Given the description of an element on the screen output the (x, y) to click on. 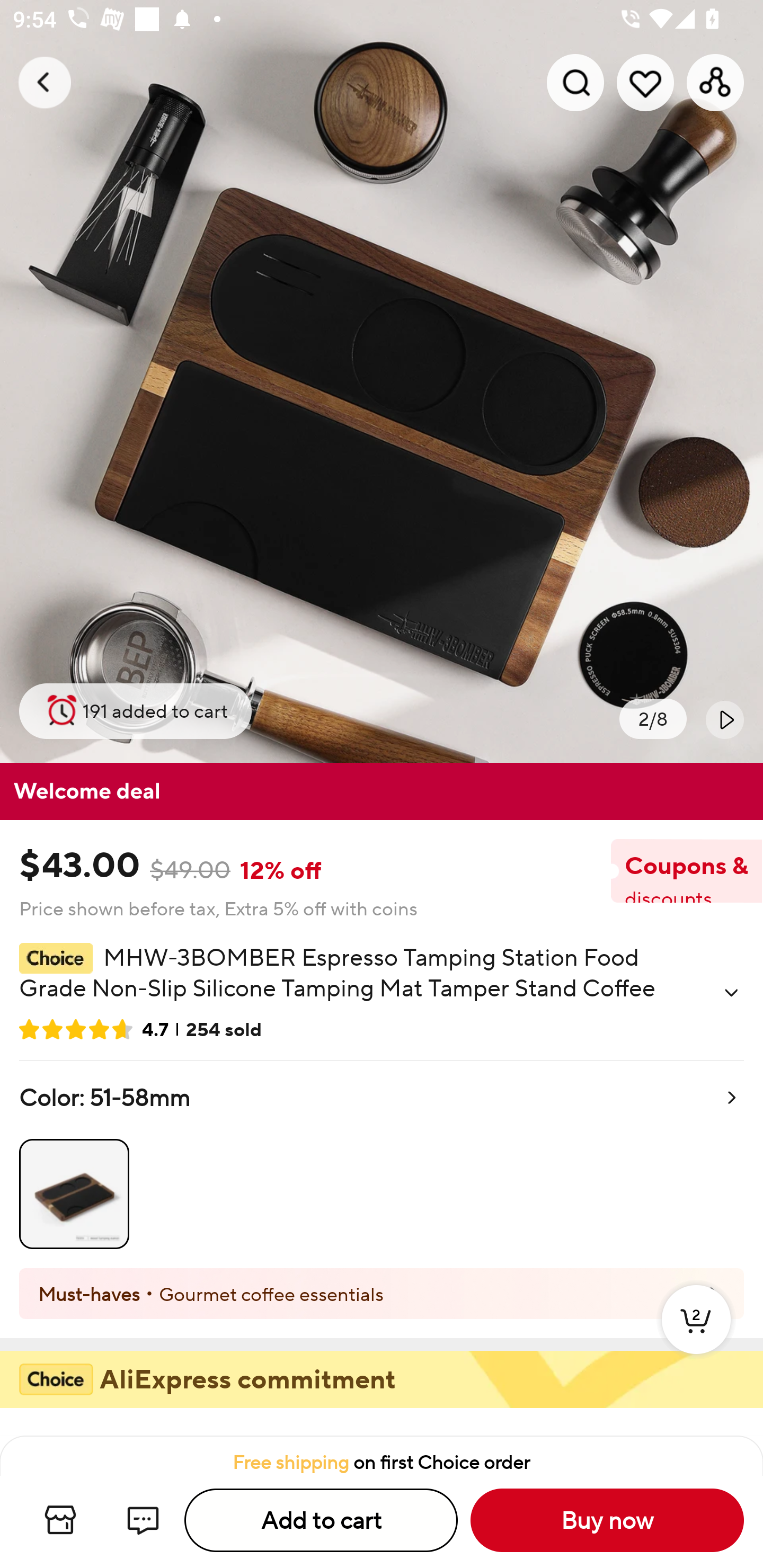
Navigate up (44, 82)
 (724, 719)
 (730, 992)
Color: 51-58mm  (381, 1164)
2 (695, 1338)
Add to cart (320, 1520)
Buy now (606, 1520)
